Given the description of an element on the screen output the (x, y) to click on. 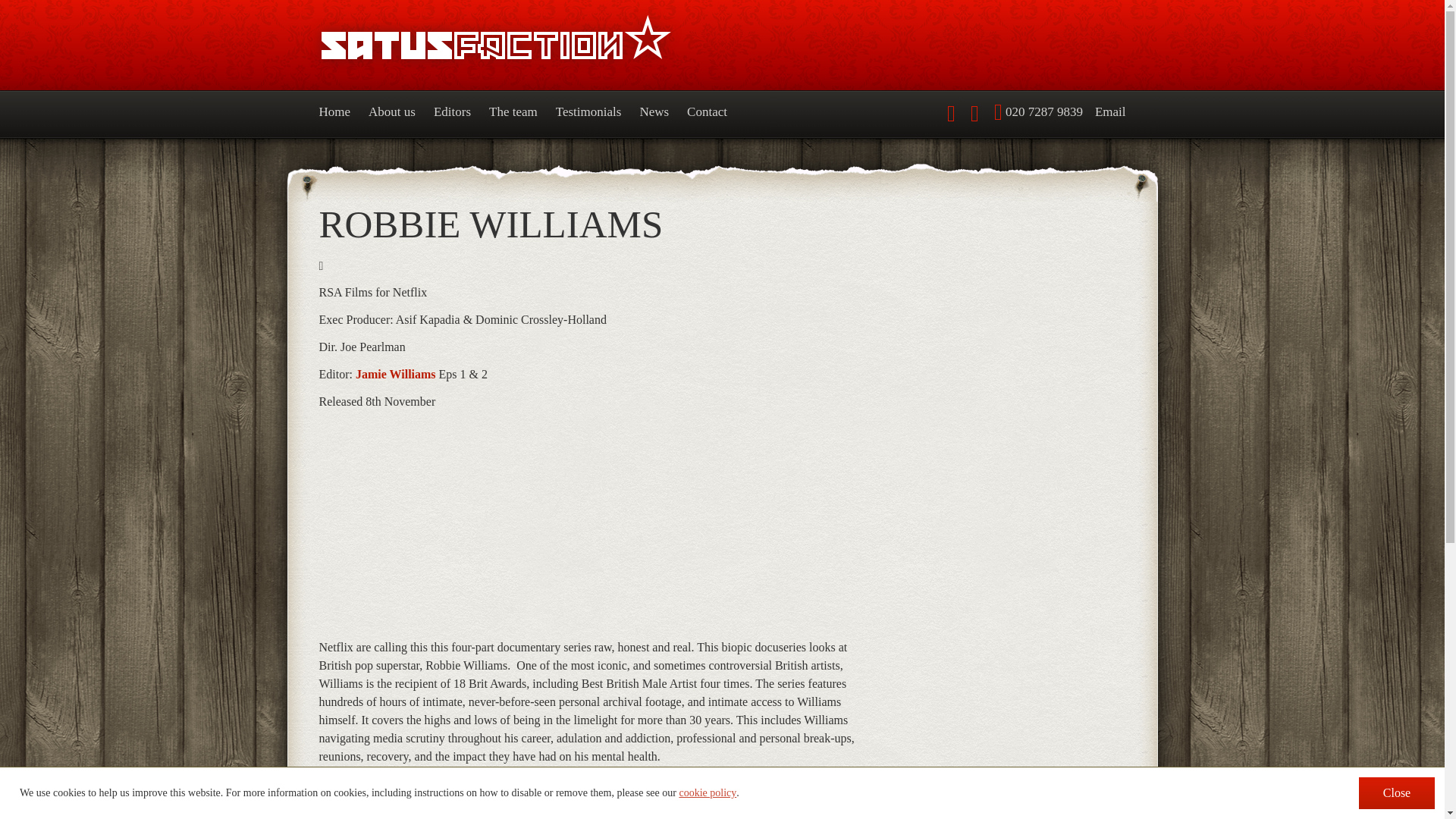
Instagram (976, 114)
SATUSFACTION (714, 45)
Testimonials (588, 114)
Editors (452, 114)
cookie policy (707, 792)
Email (1109, 111)
Jamie Williams (355, 783)
News (654, 114)
Jamie Williams (395, 373)
Home (338, 114)
Contact (707, 114)
About us (392, 114)
Twitter (952, 114)
Close (1396, 793)
The team (513, 114)
